Given the description of an element on the screen output the (x, y) to click on. 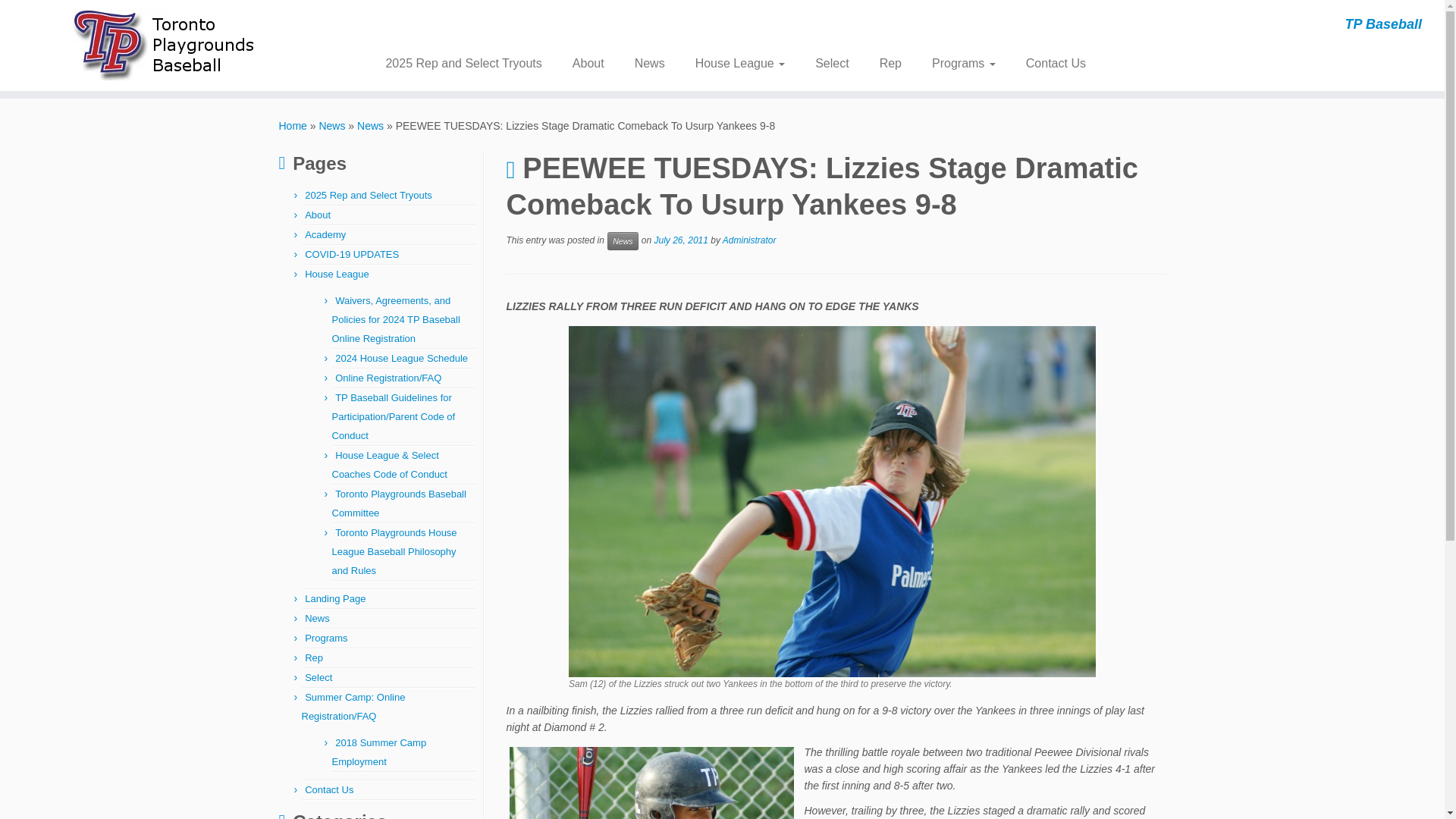
View all posts by Administrator (749, 240)
Toronto Playgrounds Baseball Committee (398, 503)
Landing Page (334, 598)
News (317, 618)
Programs (325, 637)
News (370, 125)
SONY DSC (651, 782)
2025 Rep and Select Tryouts (368, 194)
News (331, 125)
House League (739, 62)
About (317, 214)
Academy (325, 234)
11:45 PM (680, 240)
Toronto Playgrounds Baseball Association (293, 125)
